Given the description of an element on the screen output the (x, y) to click on. 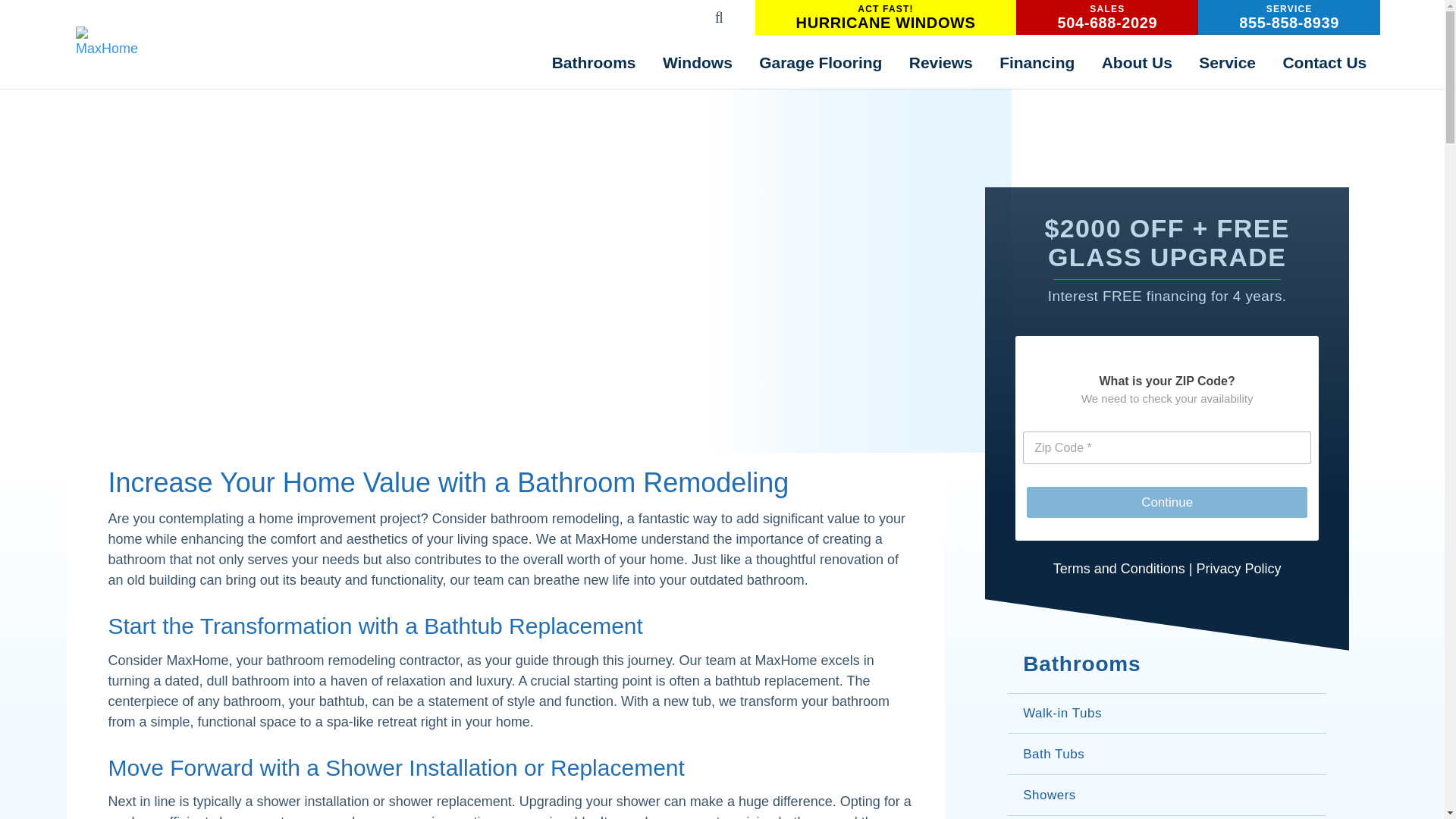
Search (1289, 17)
Windows (986, 9)
Bathrooms (697, 61)
MaxHome (593, 61)
